Given the description of an element on the screen output the (x, y) to click on. 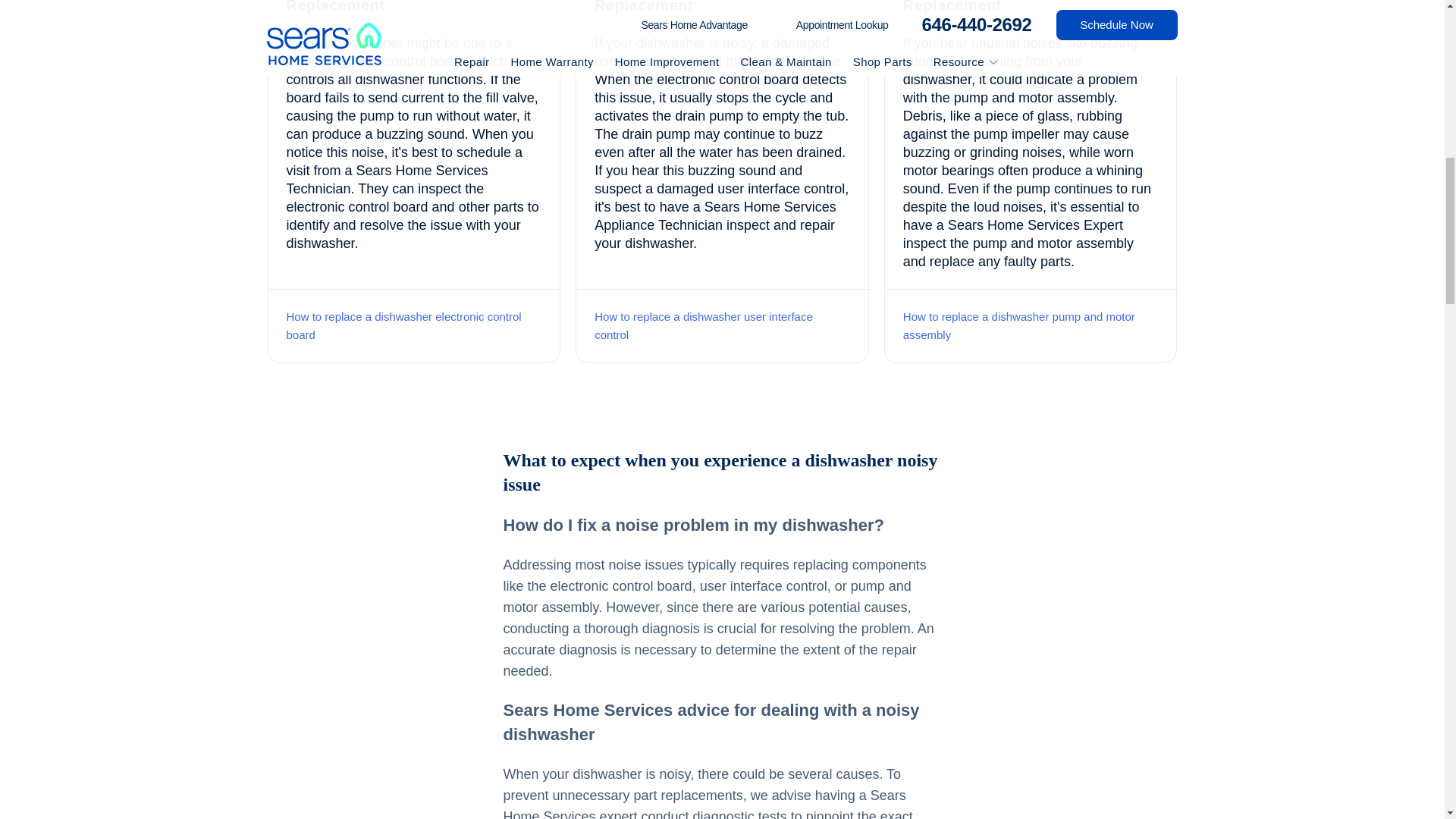
How to replace a dishwasher electronic control board (403, 325)
How to replace a dishwasher user interface control (703, 325)
How to replace a dishwasher pump and motor assembly (1018, 325)
